Given the description of an element on the screen output the (x, y) to click on. 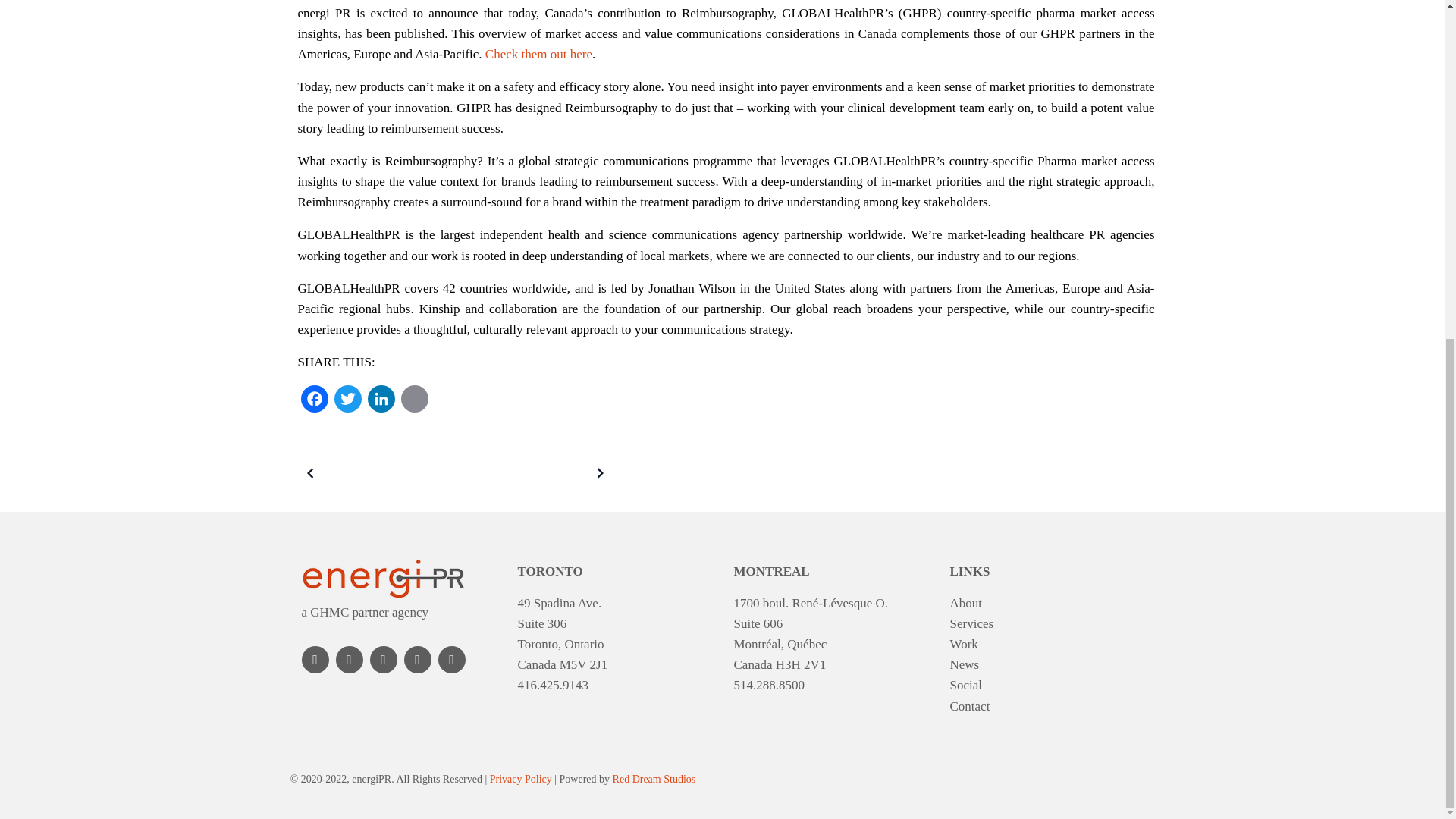
Twitter (347, 403)
Email (413, 403)
LinkedIn (380, 403)
Facebook (313, 403)
Twitter (347, 403)
Check them out here (538, 53)
Email (413, 403)
Facebook (313, 403)
LinkedIn (380, 403)
